Given the description of an element on the screen output the (x, y) to click on. 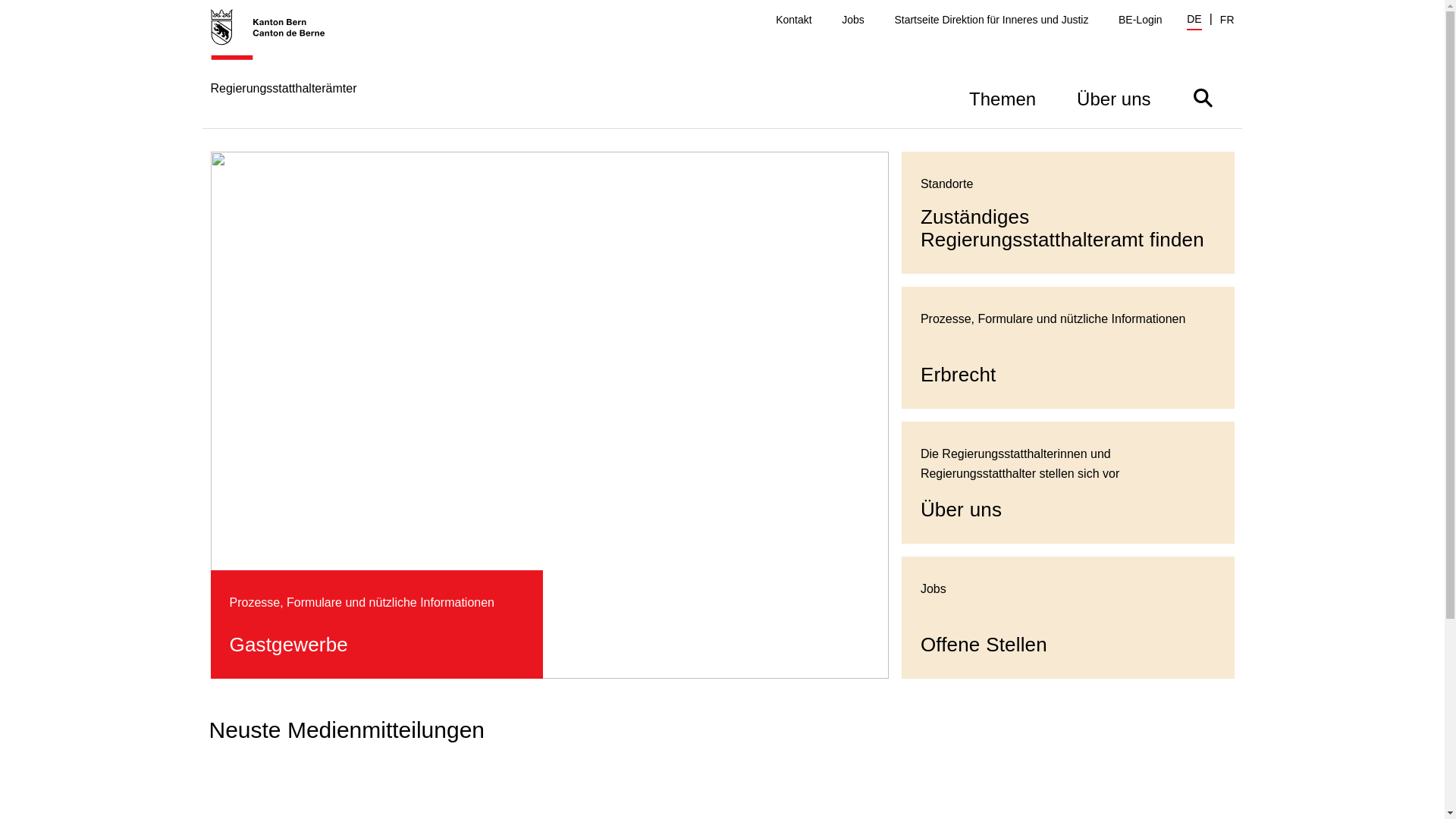
Kontakt Element type: text (793, 19)
DE Element type: text (1193, 21)
FR Element type: text (1227, 19)
Jobs Element type: text (852, 19)
Themen Element type: text (1002, 96)
Suche ein- oder ausblenden Element type: text (1201, 96)
Offene Stellen
Jobs Element type: text (1067, 617)
BE-Login Element type: text (1140, 19)
